Given the description of an element on the screen output the (x, y) to click on. 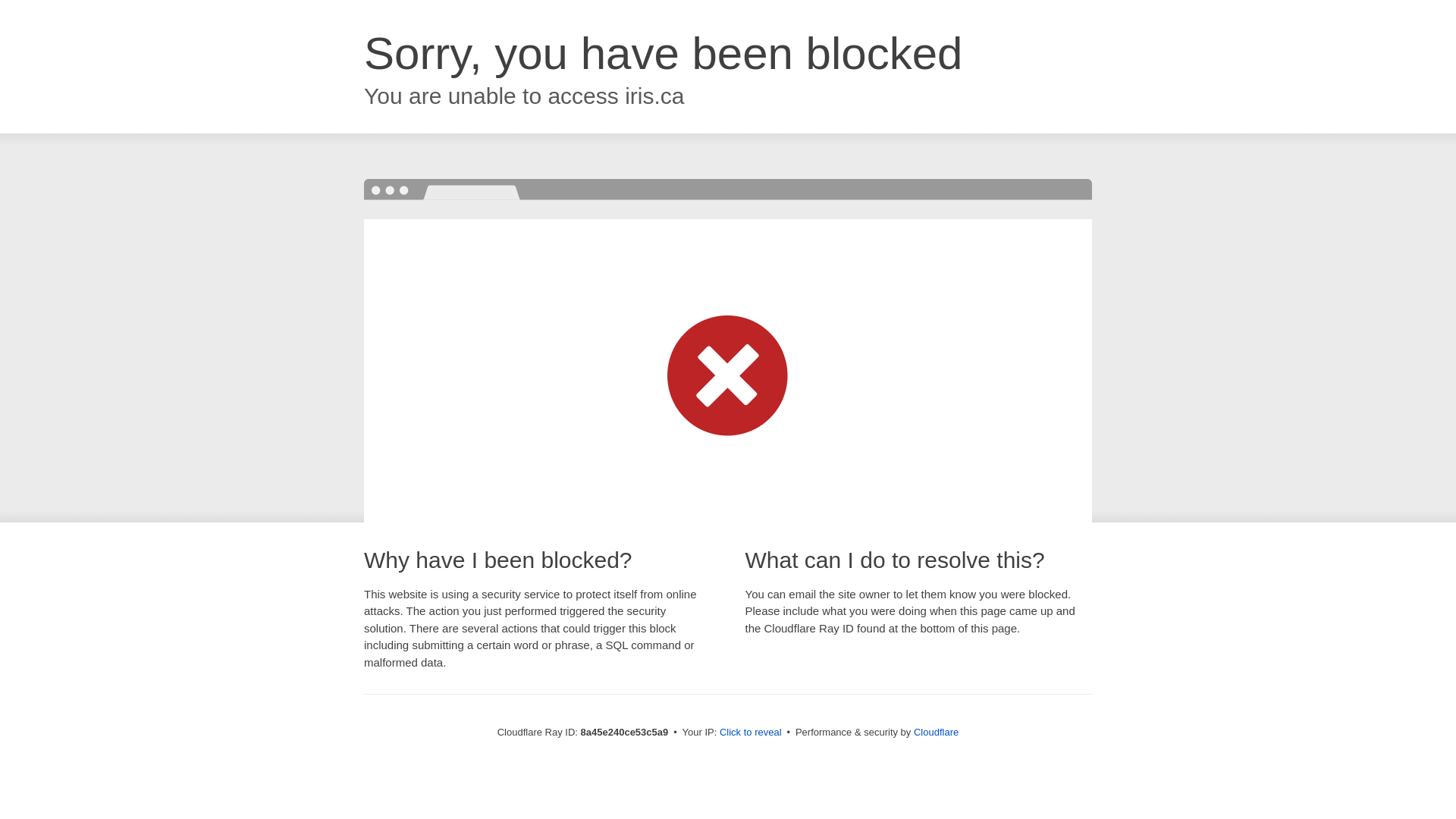
Click to reveal (750, 732)
Cloudflare (936, 731)
